Given the description of an element on the screen output the (x, y) to click on. 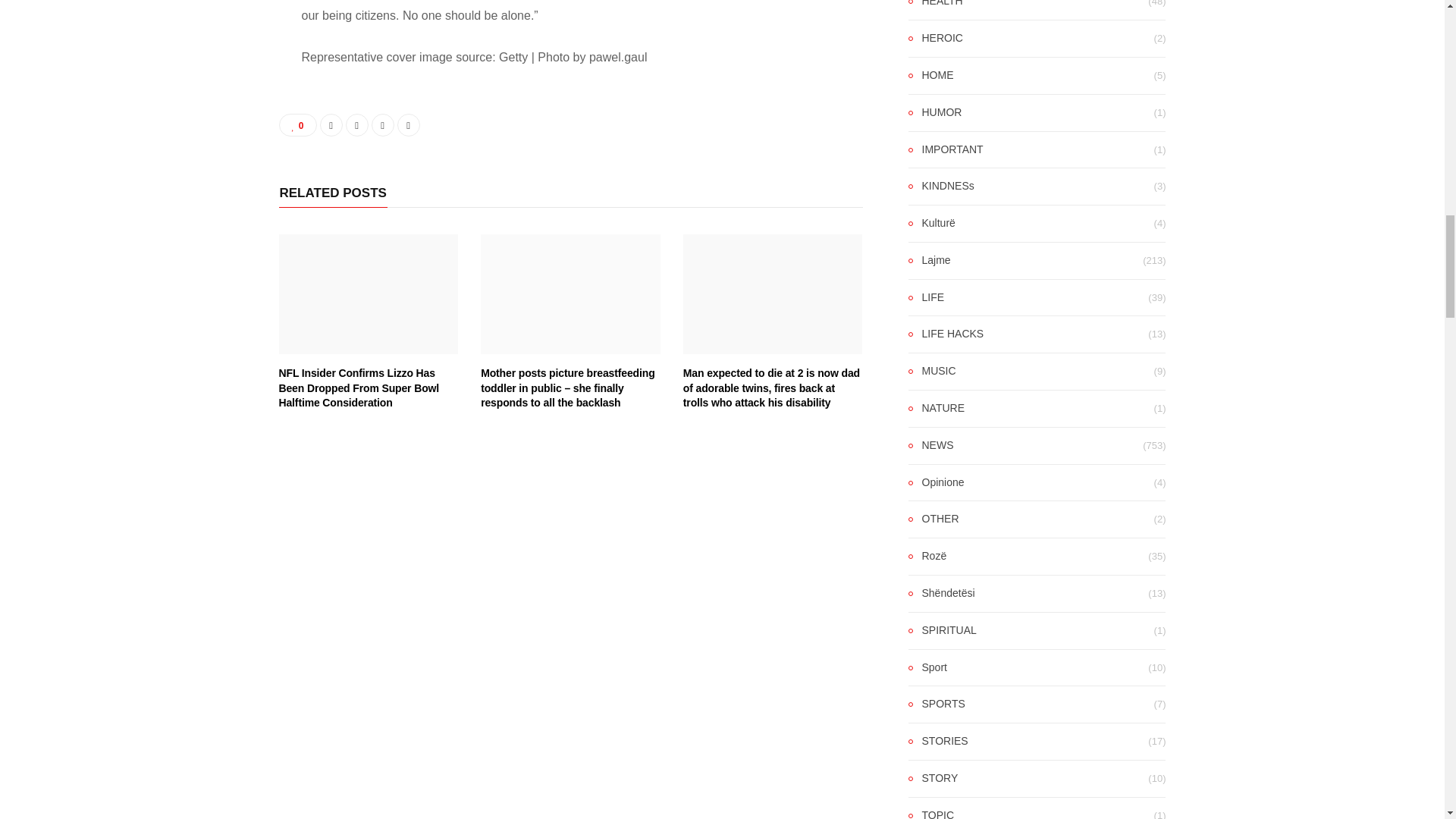
0 (298, 124)
